Given the description of an element on the screen output the (x, y) to click on. 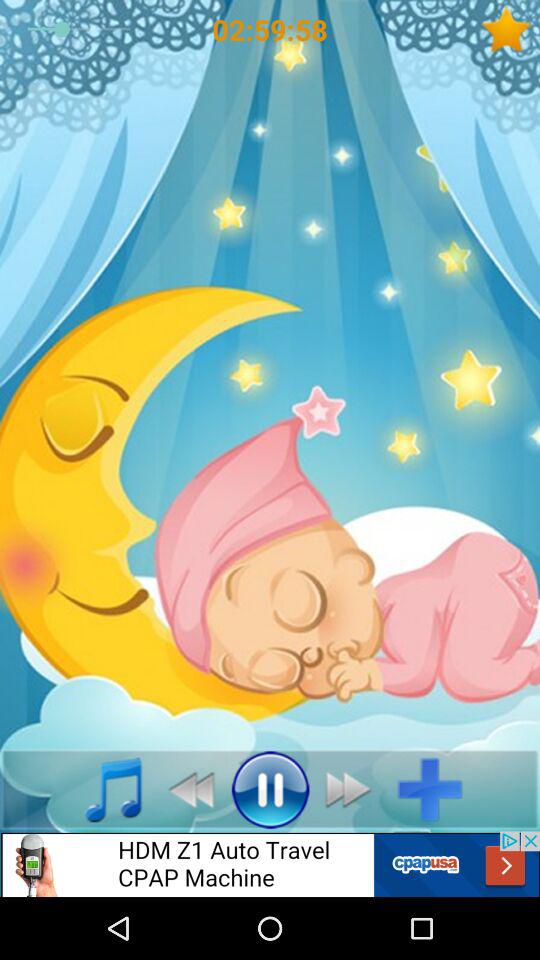
click to view add (270, 864)
